Given the description of an element on the screen output the (x, y) to click on. 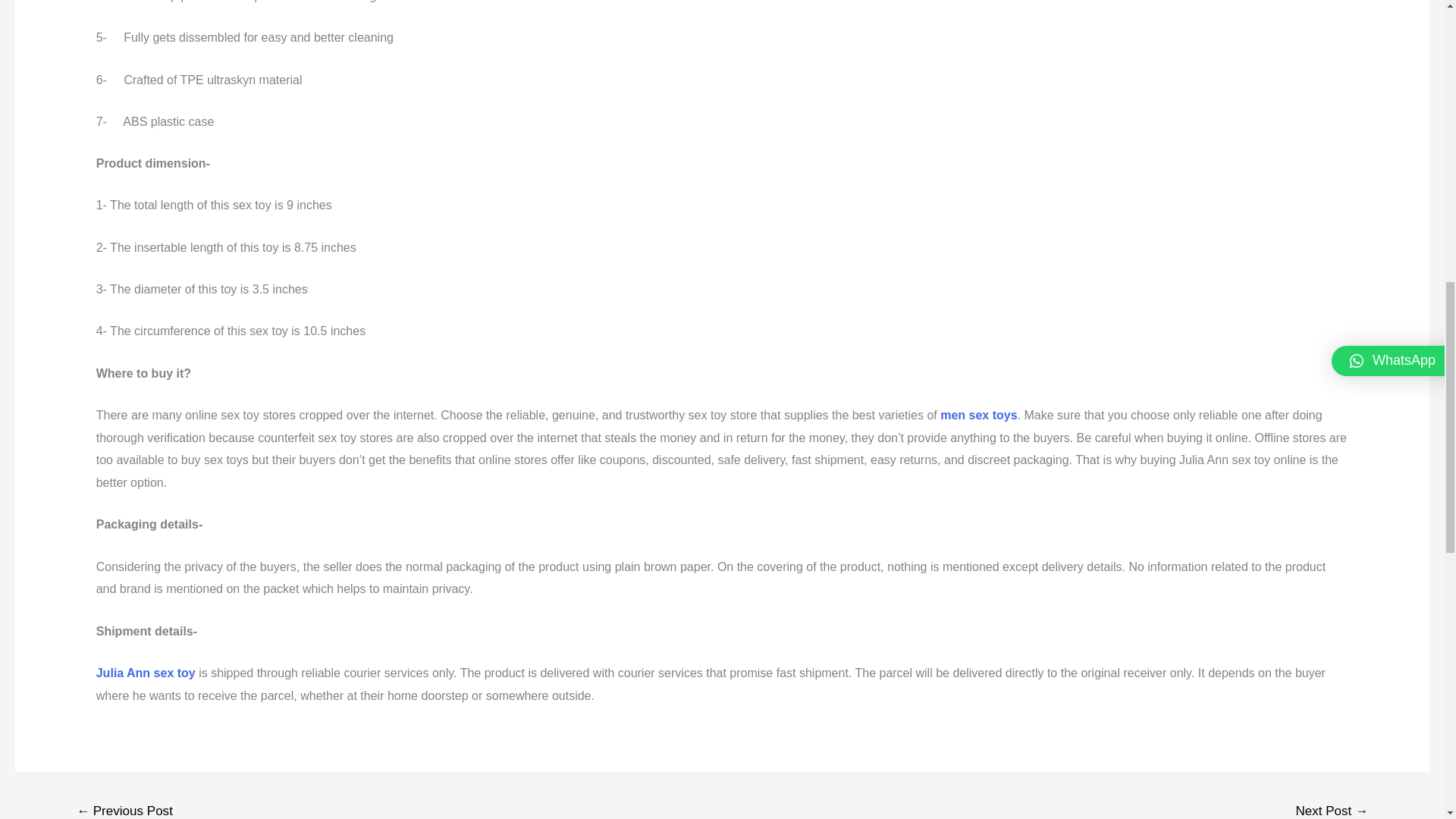
men sex toys (978, 414)
Julia Ann sex toy (145, 672)
